Given the description of an element on the screen output the (x, y) to click on. 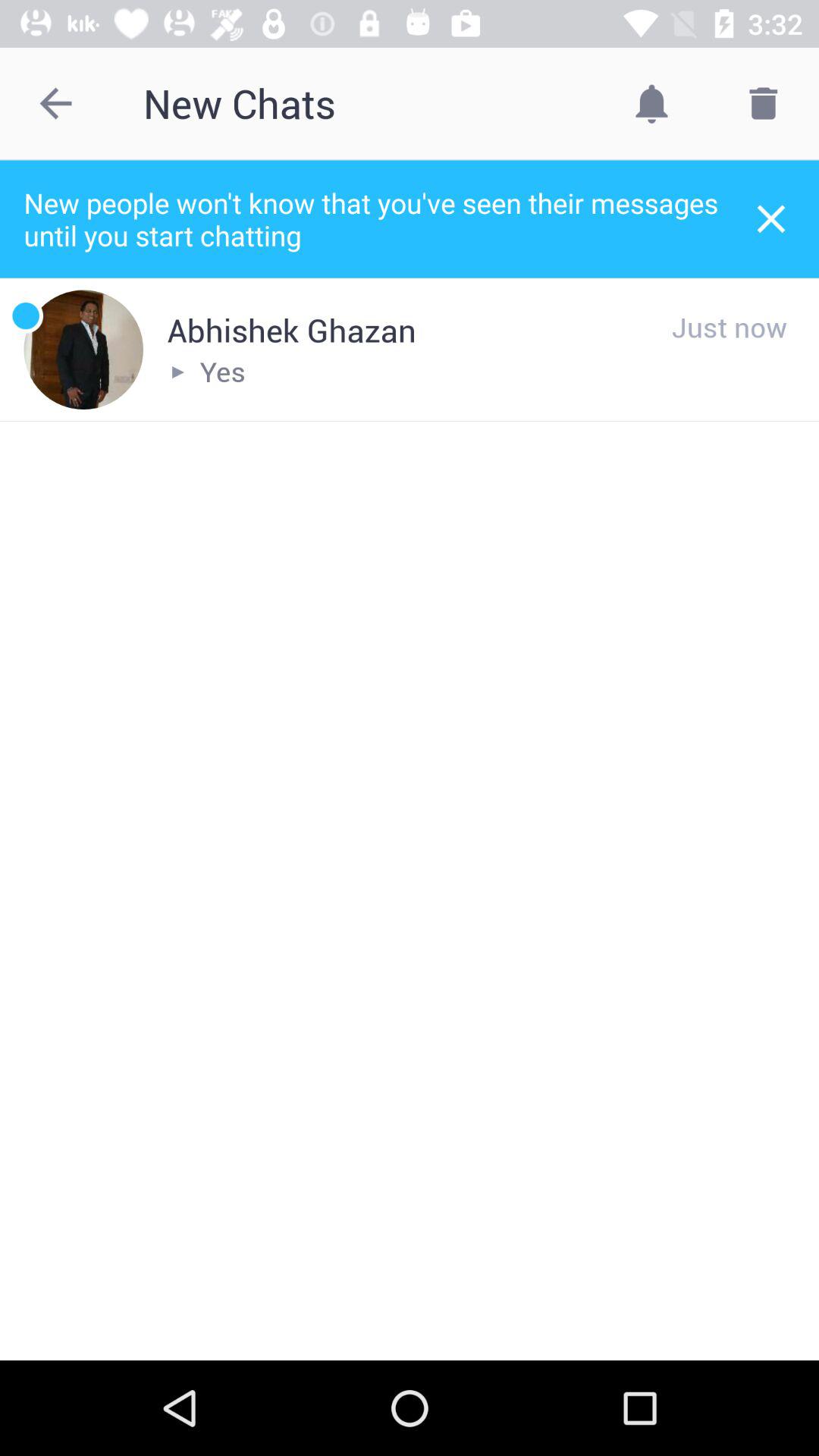
turn on icon next to the new people won icon (771, 218)
